Given the description of an element on the screen output the (x, y) to click on. 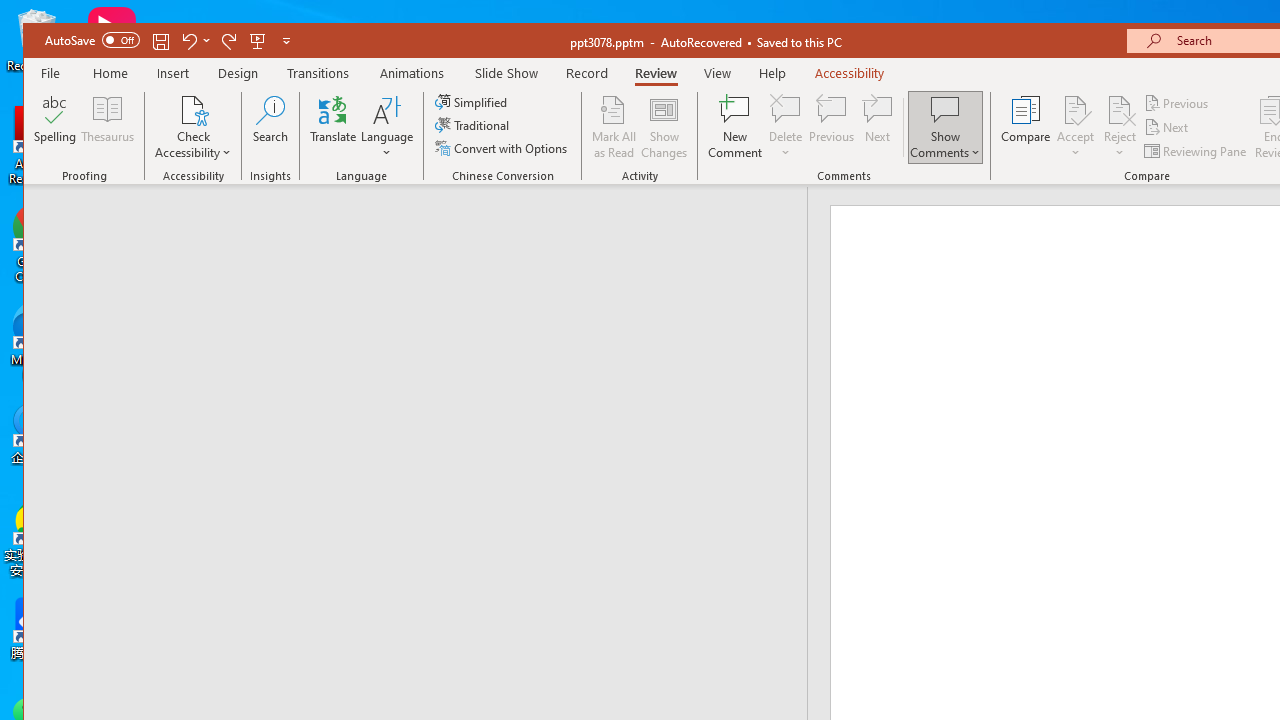
Delete (785, 109)
Show Comments (945, 127)
Reject Change (1119, 109)
Show Comments (945, 109)
Delete (785, 127)
Reviewing Pane (1196, 150)
Mark All as Read (614, 127)
